Given the description of an element on the screen output the (x, y) to click on. 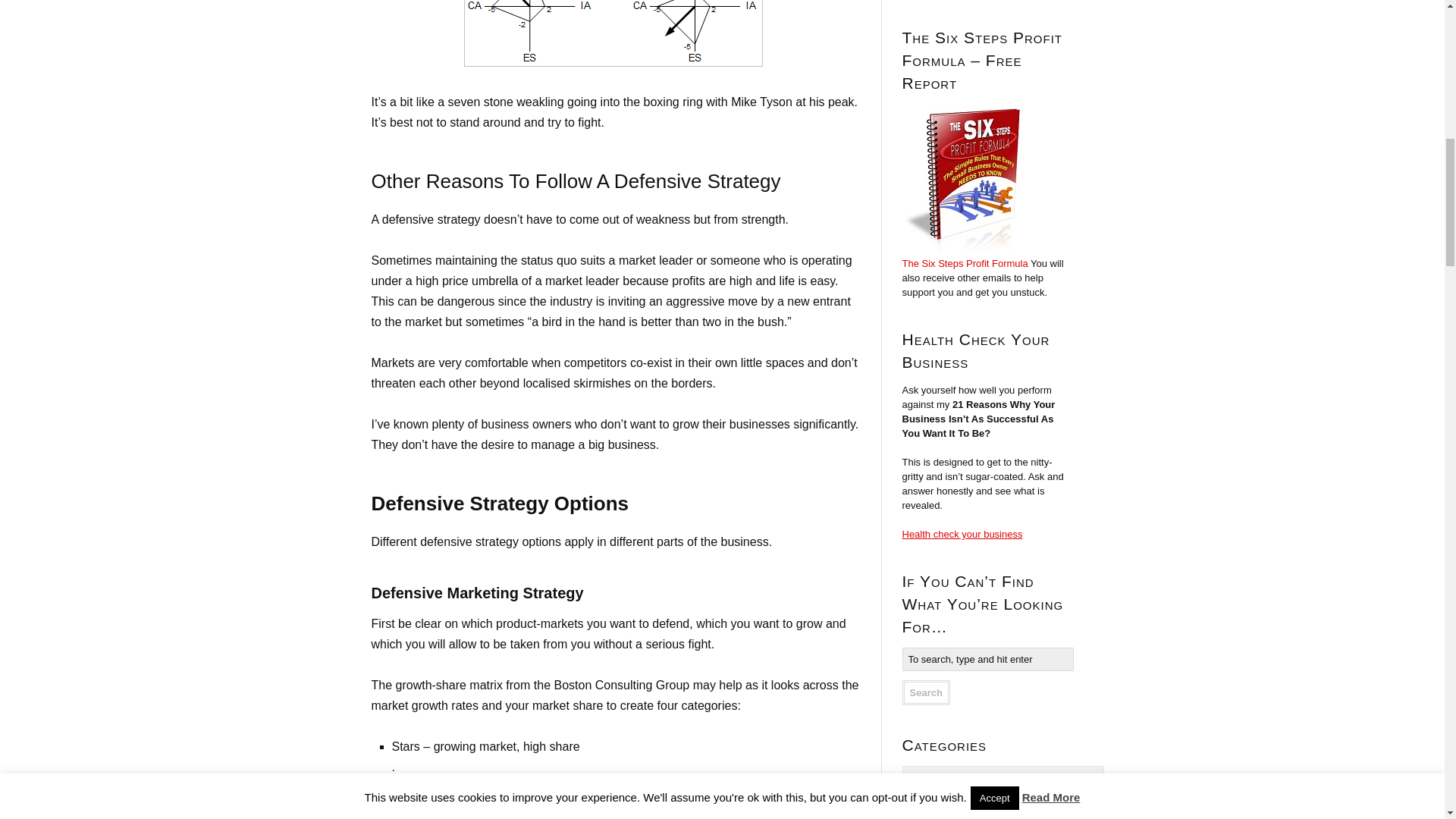
To search, type and hit enter (988, 658)
Search (926, 692)
Health check your business (962, 533)
Search (926, 692)
The Six Steps Profit Formula (964, 263)
